Given the description of an element on the screen output the (x, y) to click on. 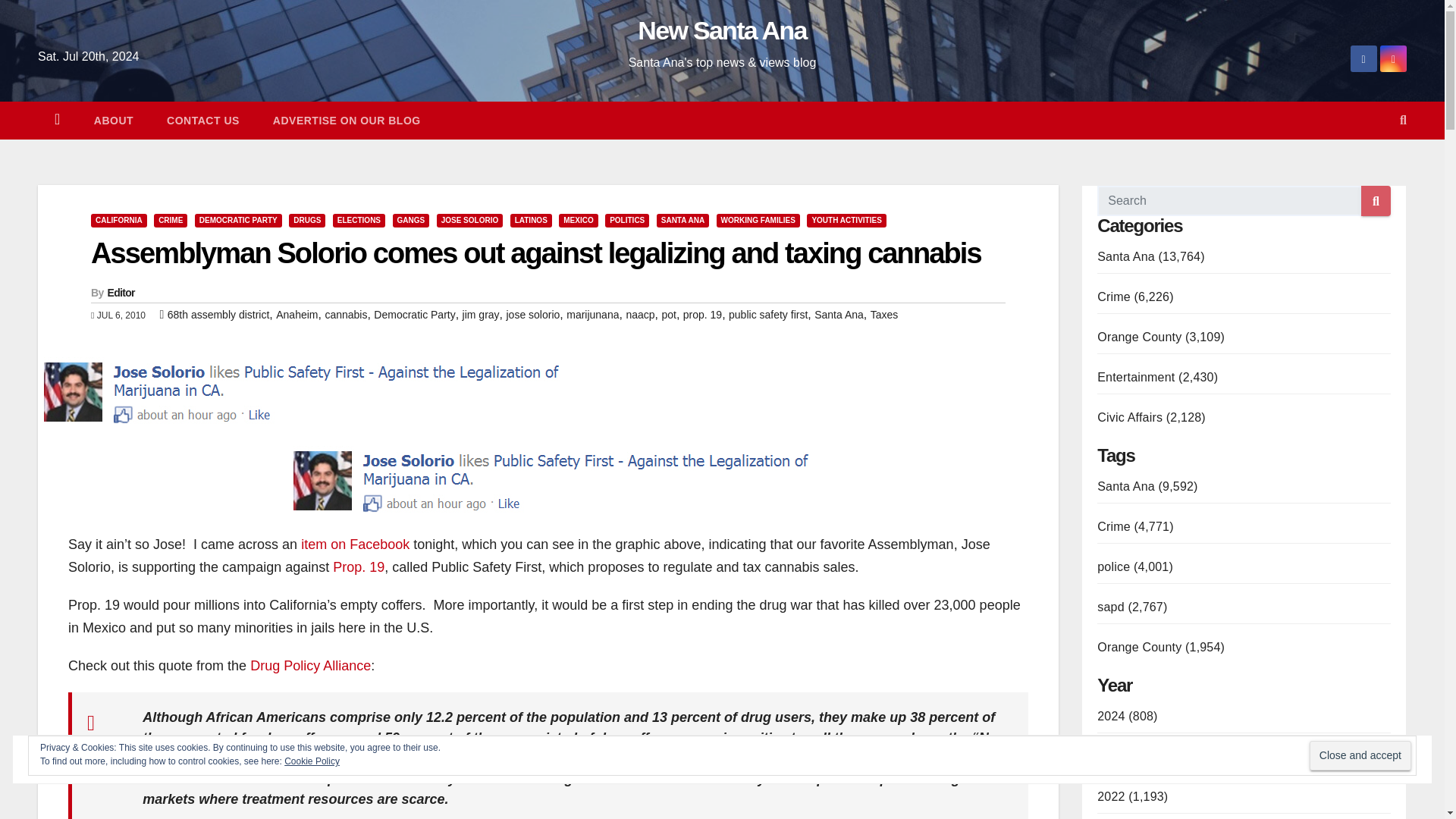
jose solorio (533, 314)
ADVERTISE ON OUR BLOG (347, 120)
New Santa Ana (721, 30)
public safety first (768, 314)
DEMOCRATIC PARTY (238, 220)
ABOUT (113, 120)
Home (57, 120)
CRIME (170, 220)
About (113, 120)
LATINOS (531, 220)
Close and accept (1359, 755)
Solorio against Prop. 19 - New Santa Ana (547, 481)
naacp (639, 314)
CONTACT US (202, 120)
